Given the description of an element on the screen output the (x, y) to click on. 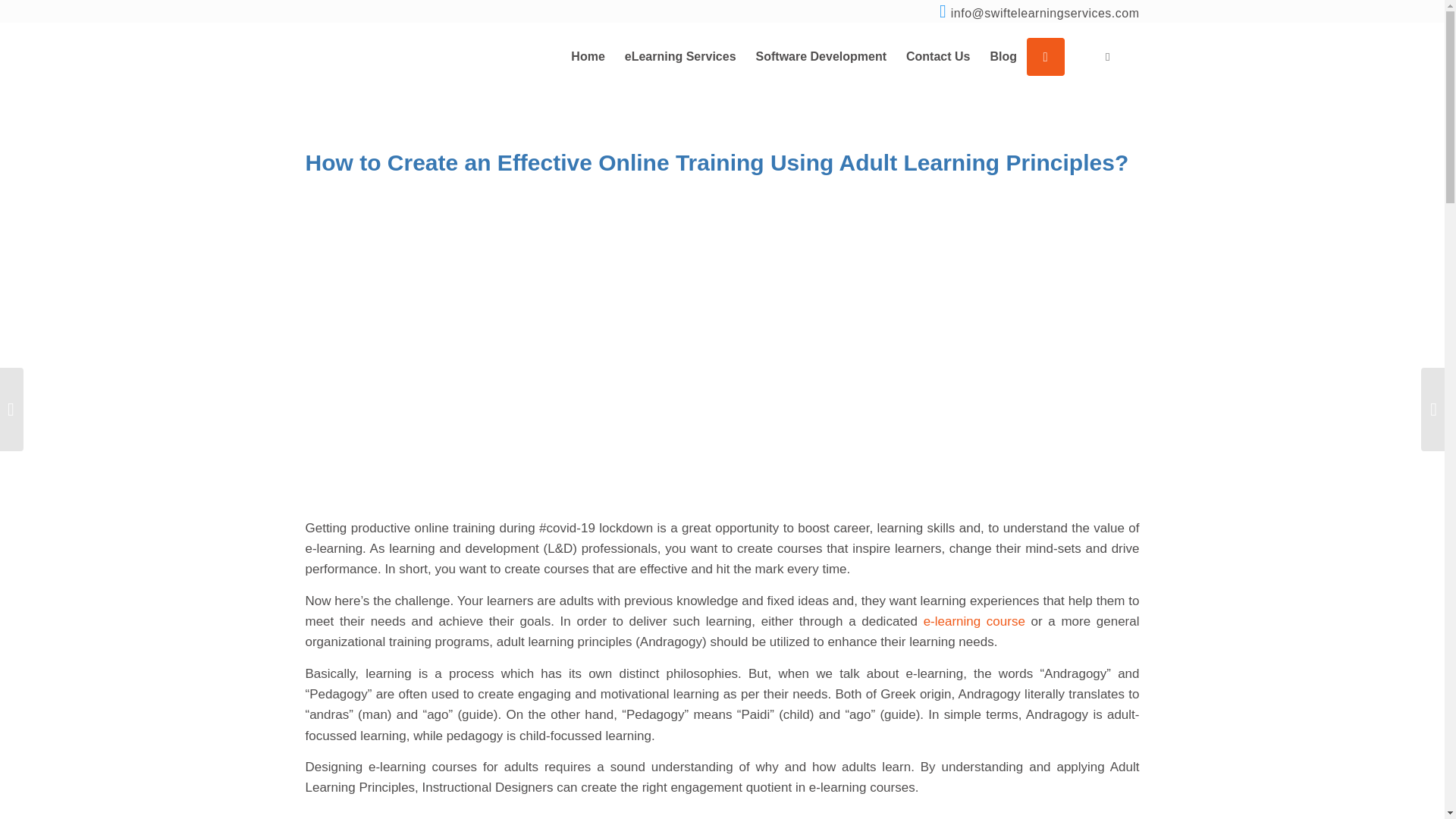
Software Solutions (820, 56)
eLearning Solutions (679, 56)
Contact Us (937, 56)
Mail (1045, 13)
e-learning course (974, 621)
Software Development (820, 56)
eLearning Services (679, 56)
